Given the description of an element on the screen output the (x, y) to click on. 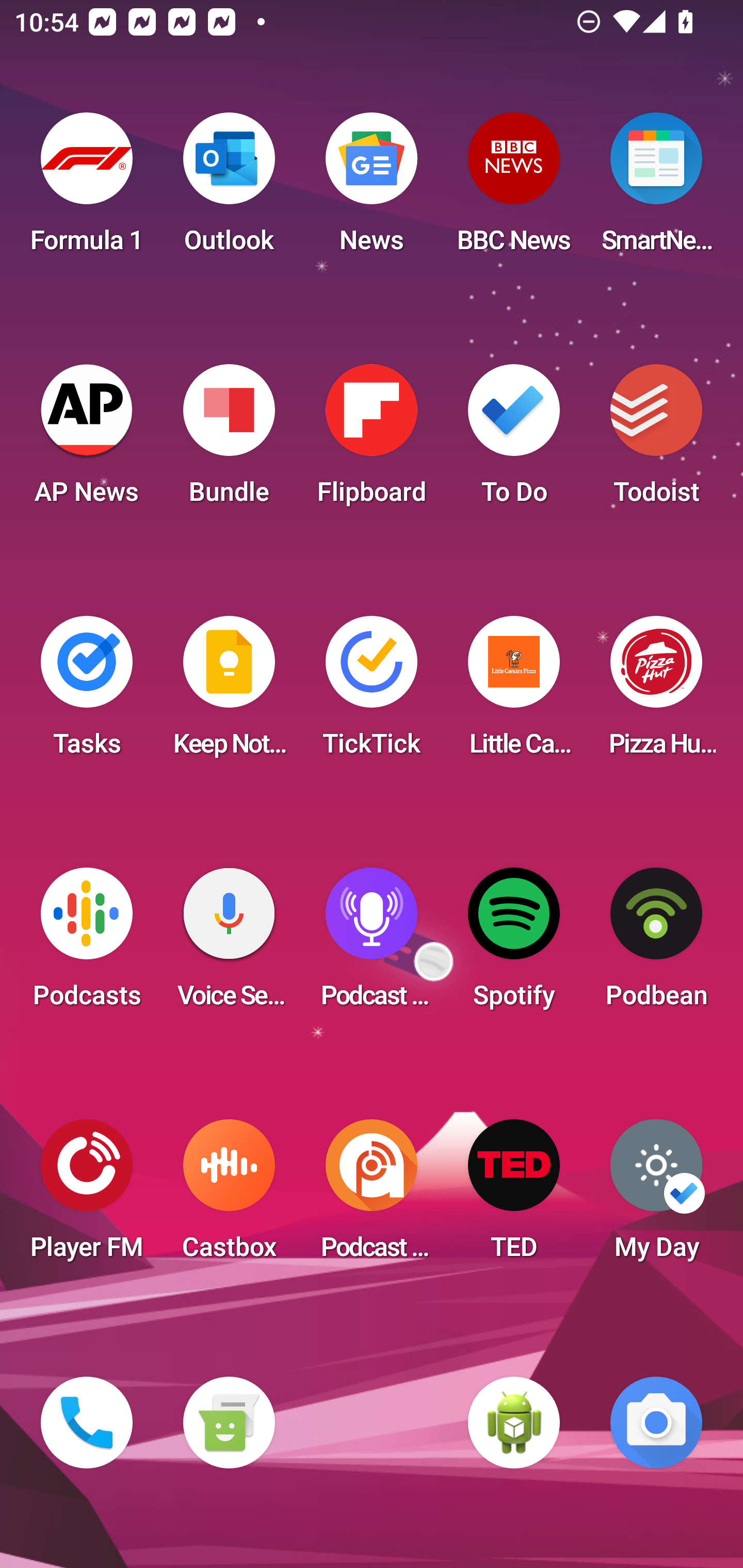
Formula 1 (86, 188)
Outlook (228, 188)
News (371, 188)
BBC News (513, 188)
SmartNews (656, 188)
AP News (86, 440)
Bundle (228, 440)
Flipboard (371, 440)
To Do (513, 440)
Todoist (656, 440)
Tasks (86, 692)
Keep Notes (228, 692)
TickTick (371, 692)
Little Caesars Pizza (513, 692)
Pizza Hut HK & Macau (656, 692)
Podcasts (86, 943)
Voice Search (228, 943)
Podcast Player (371, 943)
Spotify (513, 943)
Podbean (656, 943)
Player FM (86, 1195)
Castbox (228, 1195)
Podcast Addict (371, 1195)
TED (513, 1195)
My Day (656, 1195)
Phone (86, 1422)
Messaging (228, 1422)
WebView Browser Tester (513, 1422)
Camera (656, 1422)
